Given the description of an element on the screen output the (x, y) to click on. 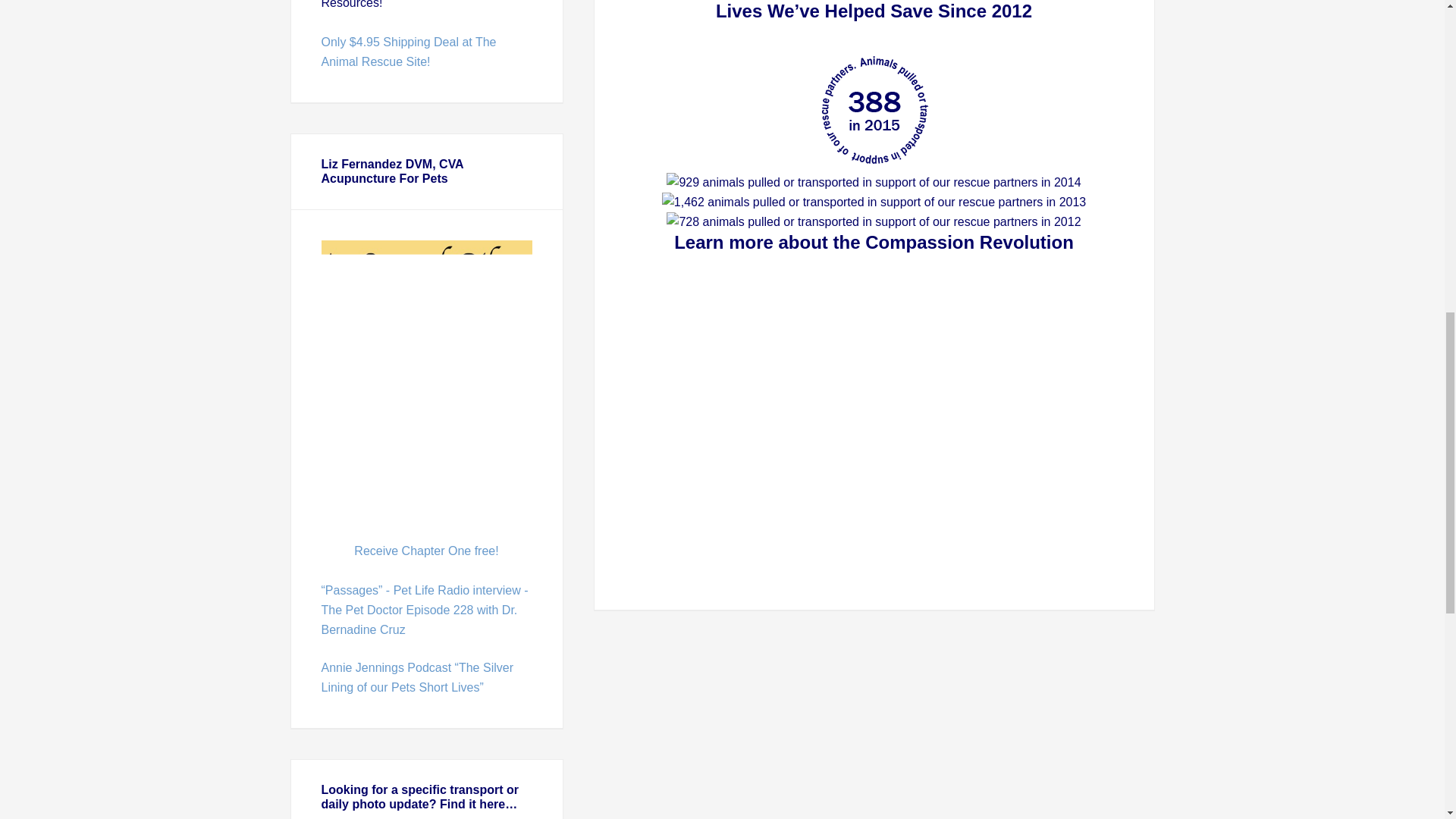
Receive Chapter One free! (425, 550)
